Given the description of an element on the screen output the (x, y) to click on. 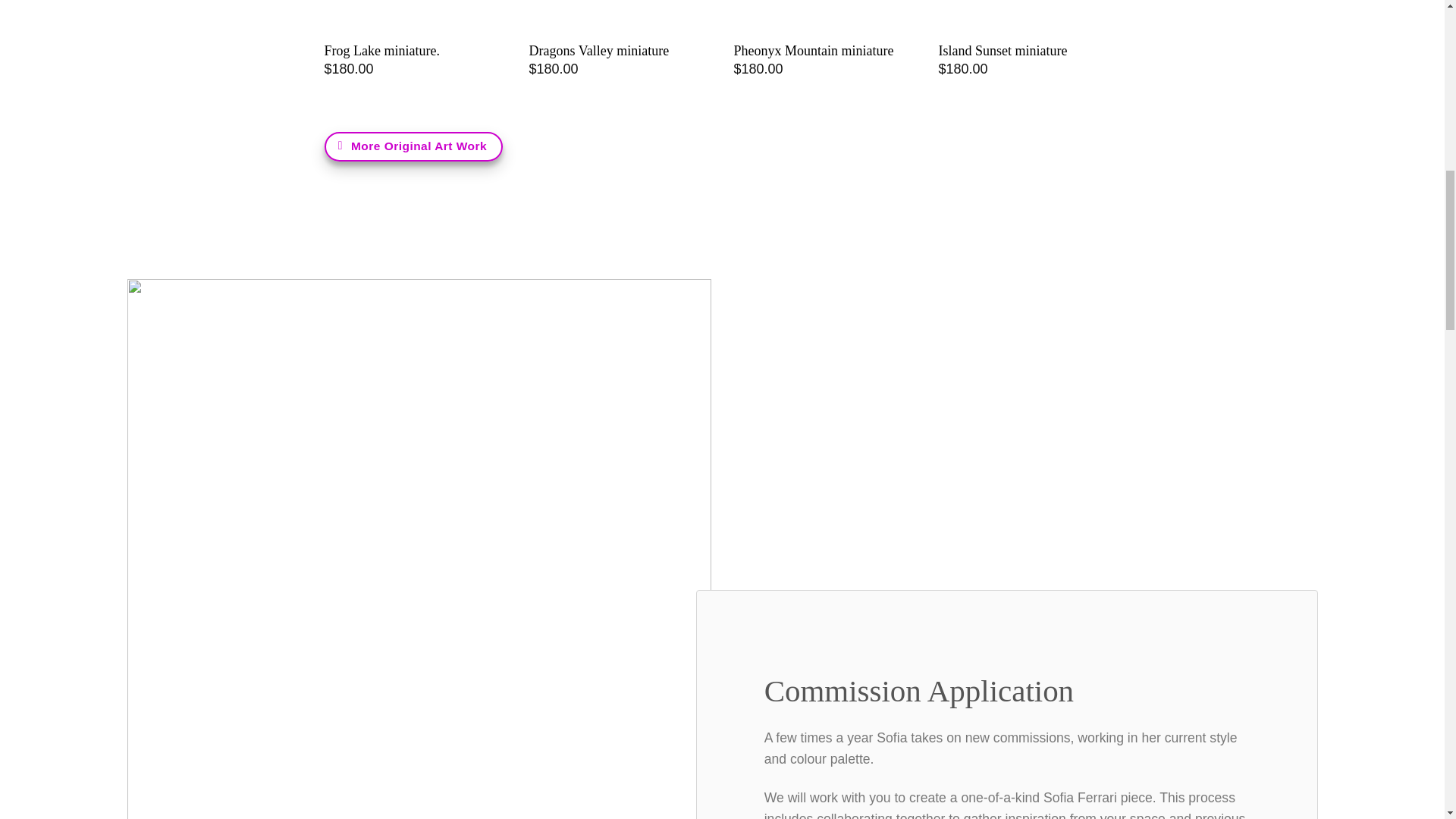
Frog Lake miniature. (381, 50)
Dragons Valley miniature (599, 50)
Pheonyx Mountain miniature (813, 50)
SOLD (620, 7)
